Given the description of an element on the screen output the (x, y) to click on. 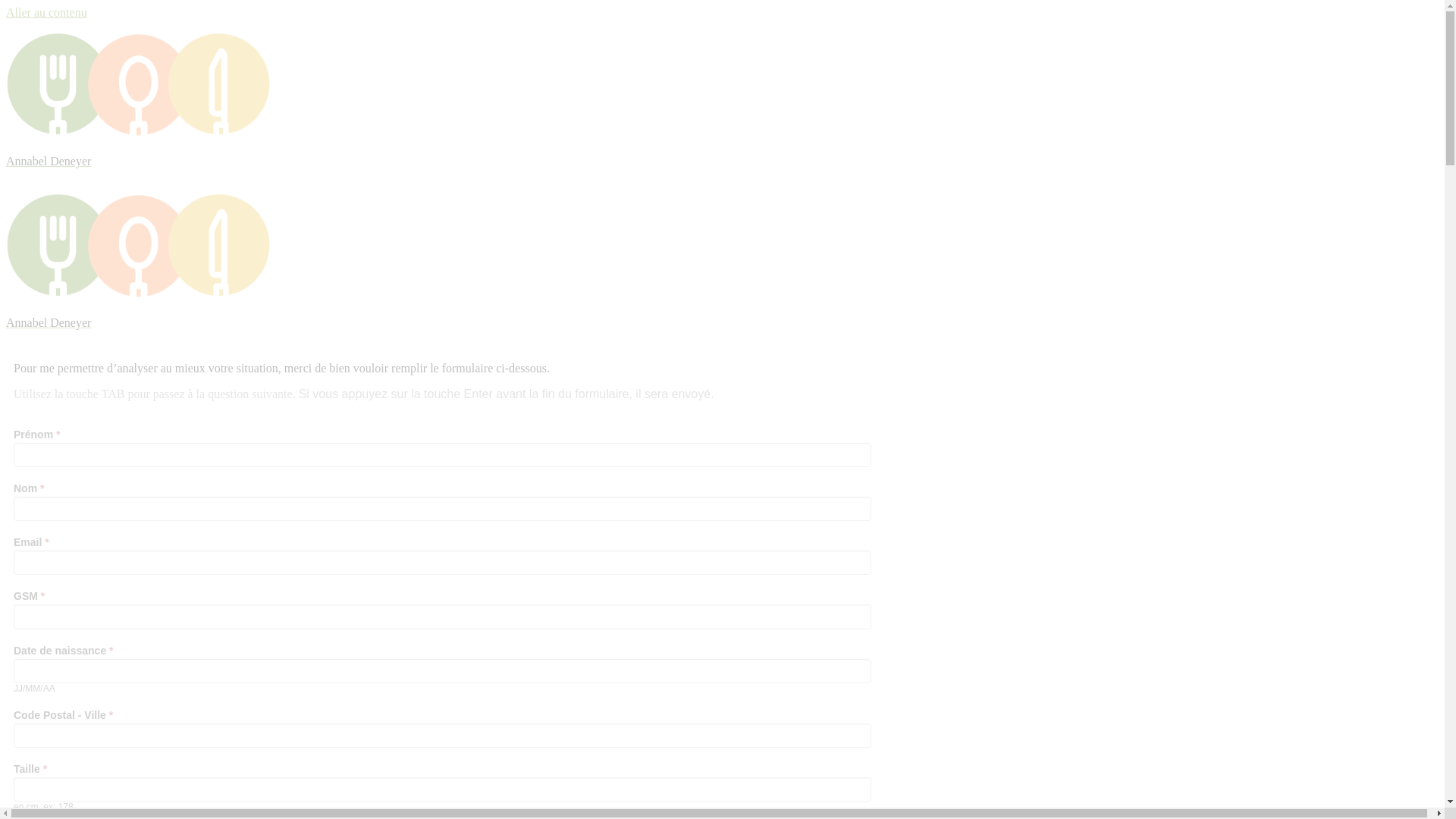
Aller au contenu Element type: text (46, 12)
Annabel Deneyer Element type: text (722, 258)
Annabel Deneyer Element type: text (722, 98)
